Given the description of an element on the screen output the (x, y) to click on. 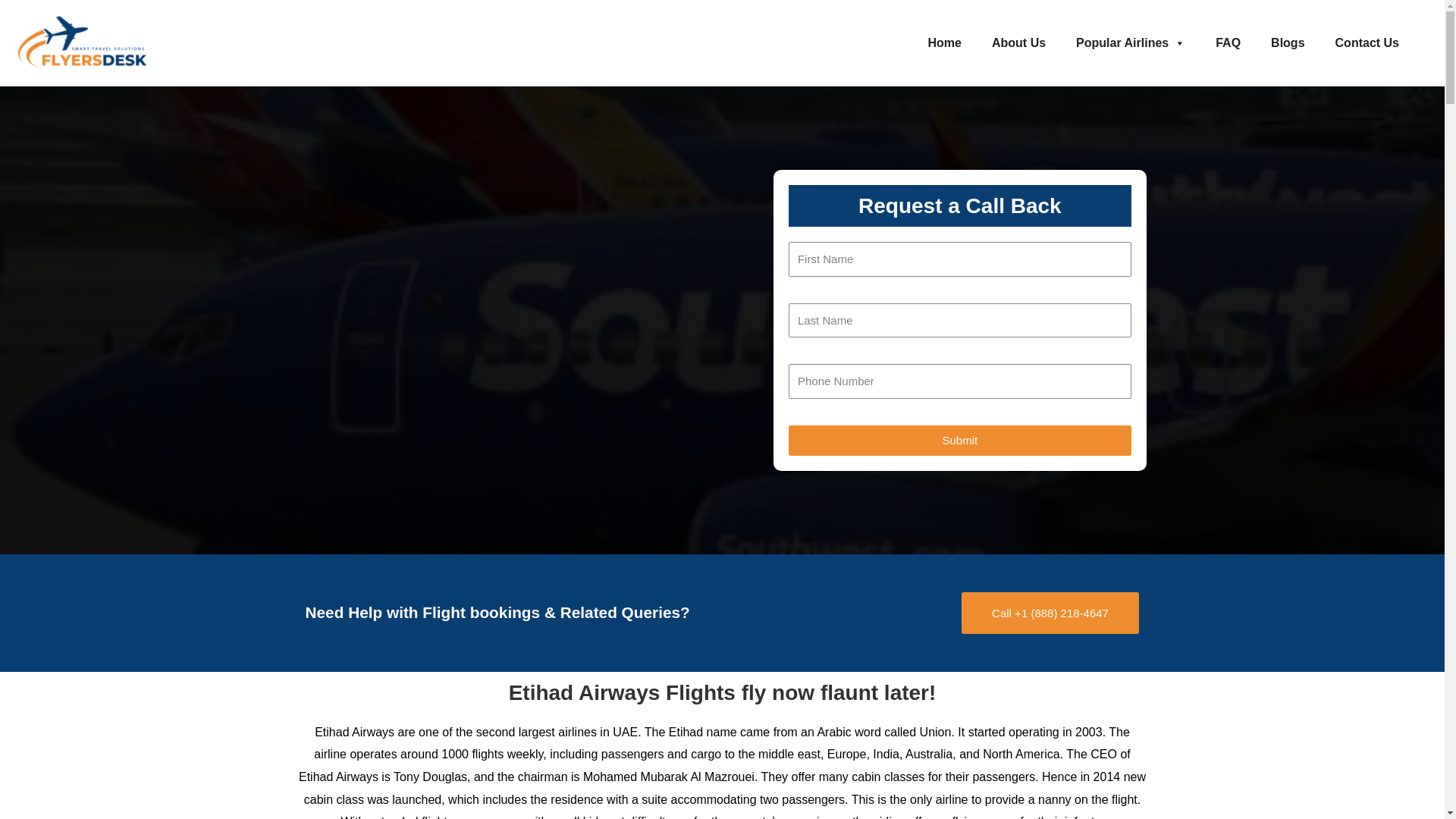
FAQ (1227, 42)
About Us (1018, 42)
Home (944, 42)
Contact Us (1366, 42)
Blogs (1287, 42)
Popular Airlines (1130, 42)
